Given the description of an element on the screen output the (x, y) to click on. 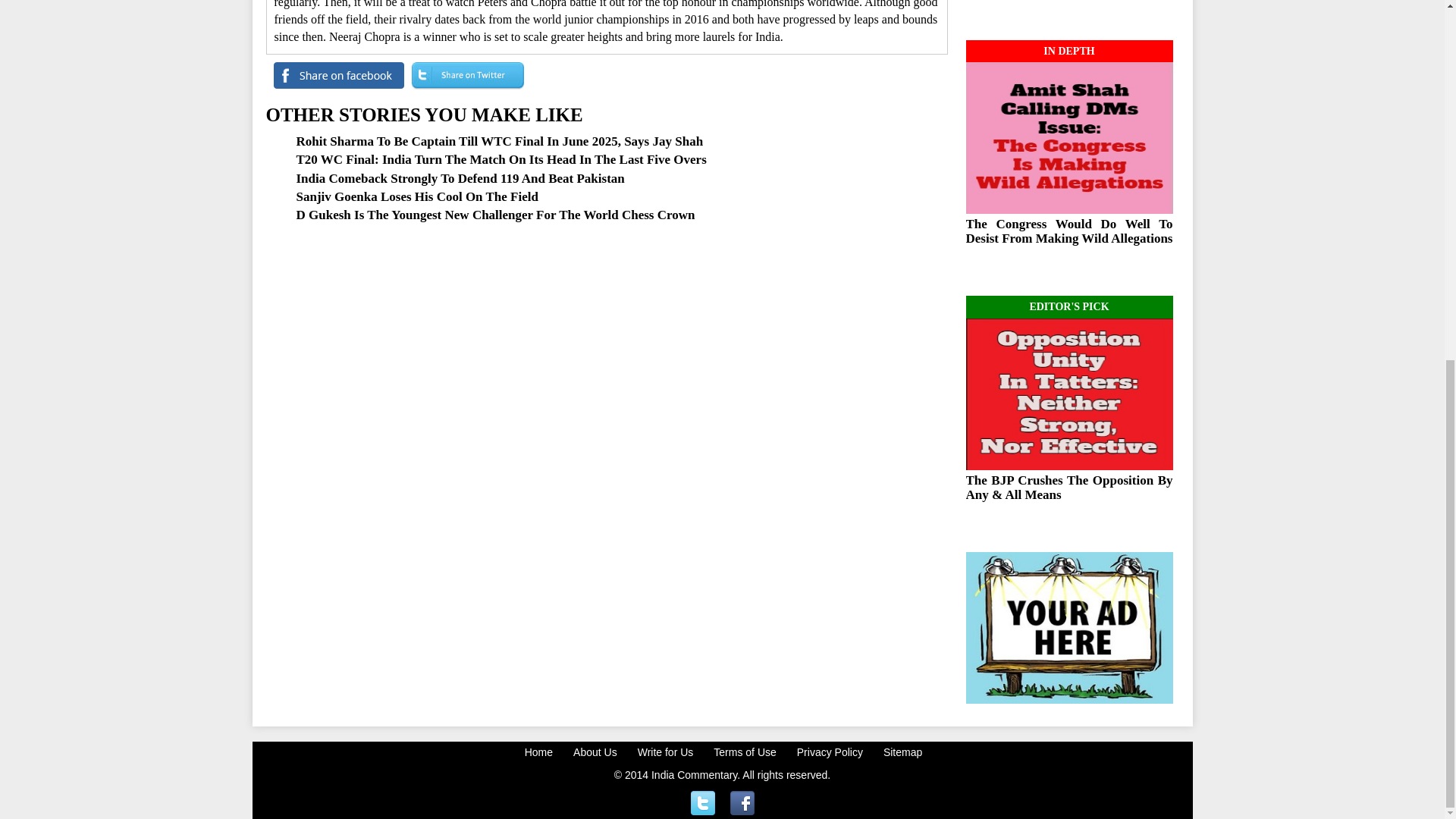
Terms of Use (746, 752)
Home (540, 752)
India Comeback Strongly To Defend 119 And Beat Pakistan (459, 178)
About Us (598, 752)
Sanjiv Goenka Loses His Cool On The Field (416, 196)
Sitemap (905, 752)
Write for Us (667, 752)
